Given the description of an element on the screen output the (x, y) to click on. 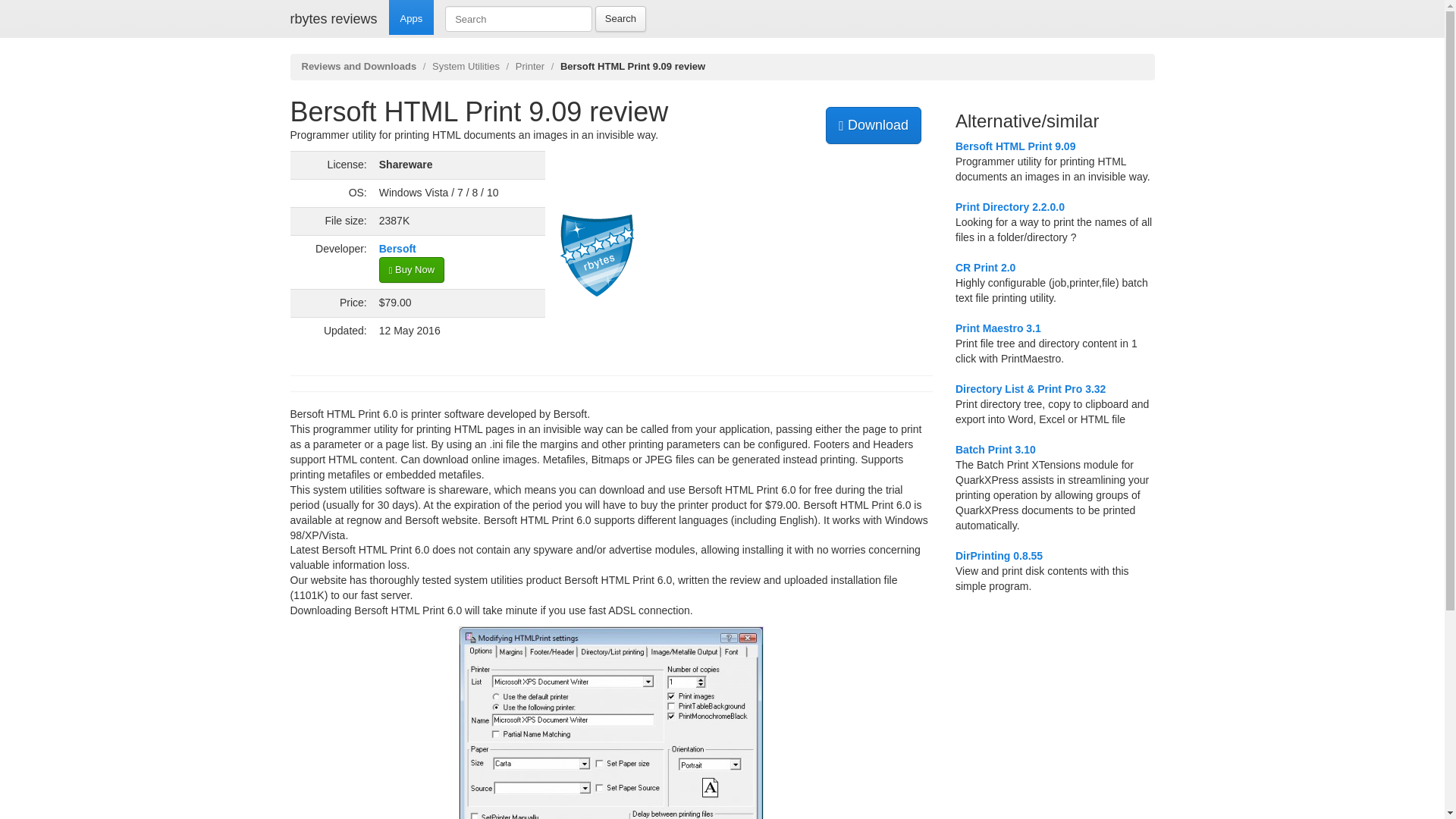
Bersoft HTML Print 9.09 review (1015, 146)
Bersoft (397, 248)
Print Directory 2.2.0.0 review (1009, 206)
CR Print 2.0 review (984, 267)
Print Maestro 3.1 (998, 328)
DirPrinting 0.8.55 (998, 555)
Buy Now (411, 269)
rbytes reviews (333, 18)
CR Print 2.0 (984, 267)
Print Directory 2.2.0.0 (1009, 206)
Reviews and Downloads (358, 66)
DirPrinting 0.8.55 review (998, 555)
rbytes reviews (333, 18)
Search (620, 18)
Bersoft HTML Print 9.09 screenshot (610, 722)
